Given the description of an element on the screen output the (x, y) to click on. 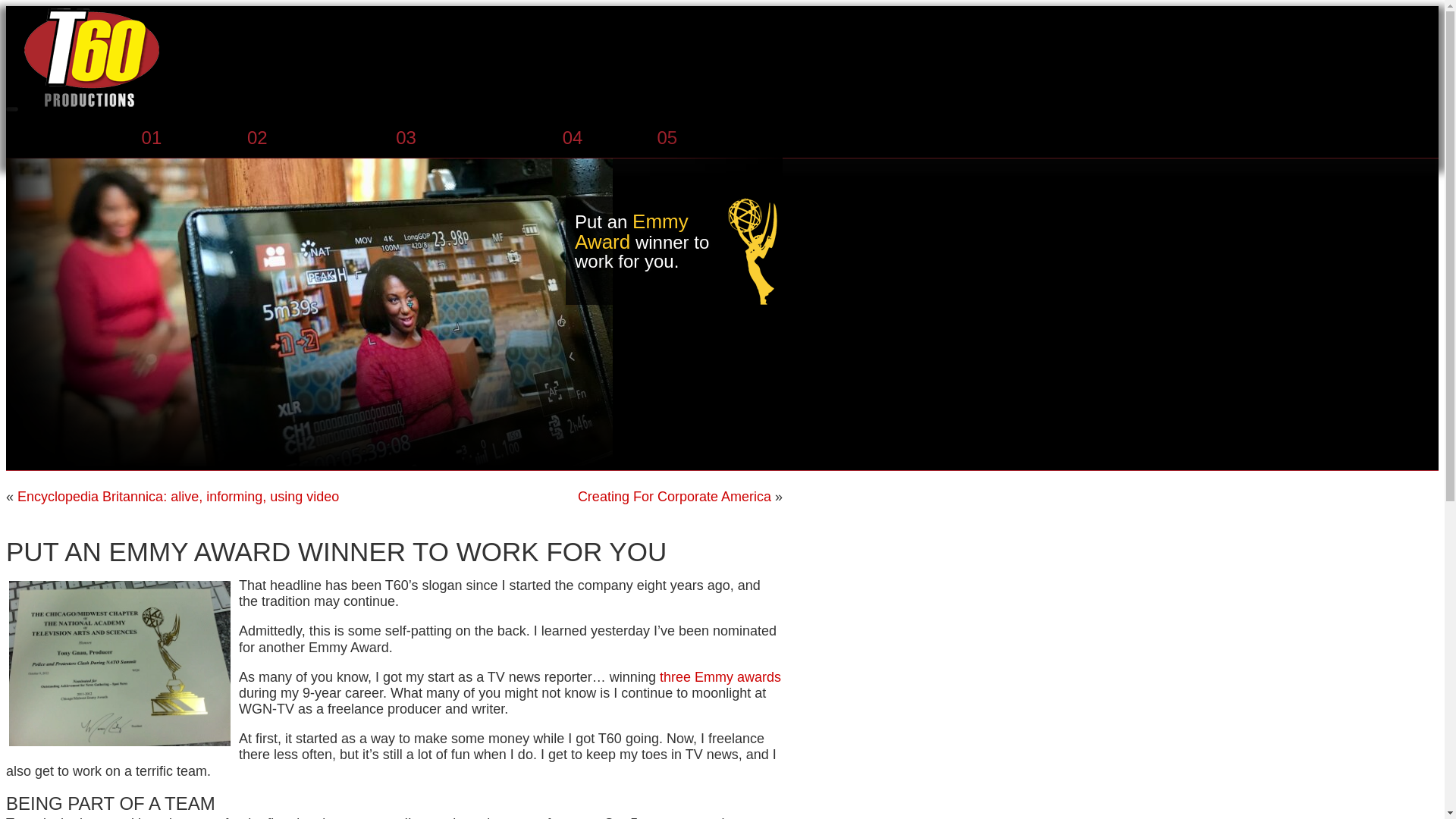
Creating For Corporate America (674, 496)
three Emmy awards (719, 676)
Encyclopedia Britannica: alive, informing, using video (178, 496)
Permanent Link: Put An Emmy Award Winner To Work For You (335, 551)
Toggle navigation (11, 109)
02 PORTFOLIO (312, 137)
04 BLOG (600, 137)
03 MEMBERSHIP (469, 137)
05 CONTACT (712, 137)
01 ABOUT (184, 137)
PUT AN EMMY AWARD WINNER TO WORK FOR YOU (335, 551)
